Given the description of an element on the screen output the (x, y) to click on. 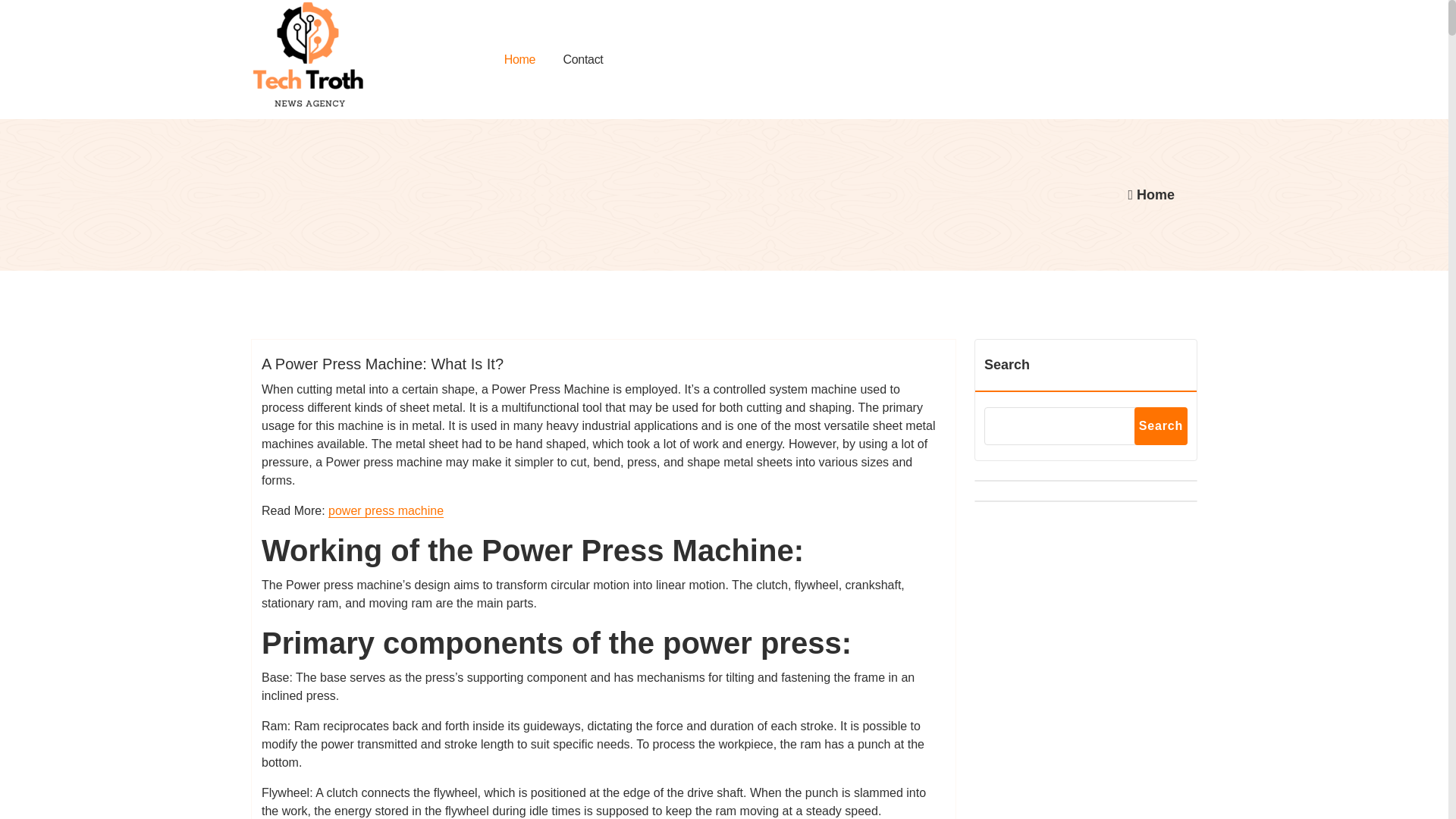
Contact (582, 59)
Home (1149, 193)
Home (520, 59)
Contact (582, 59)
Home (520, 59)
A Power Press Machine: What Is It? (382, 363)
power press machine (386, 510)
